Given the description of an element on the screen output the (x, y) to click on. 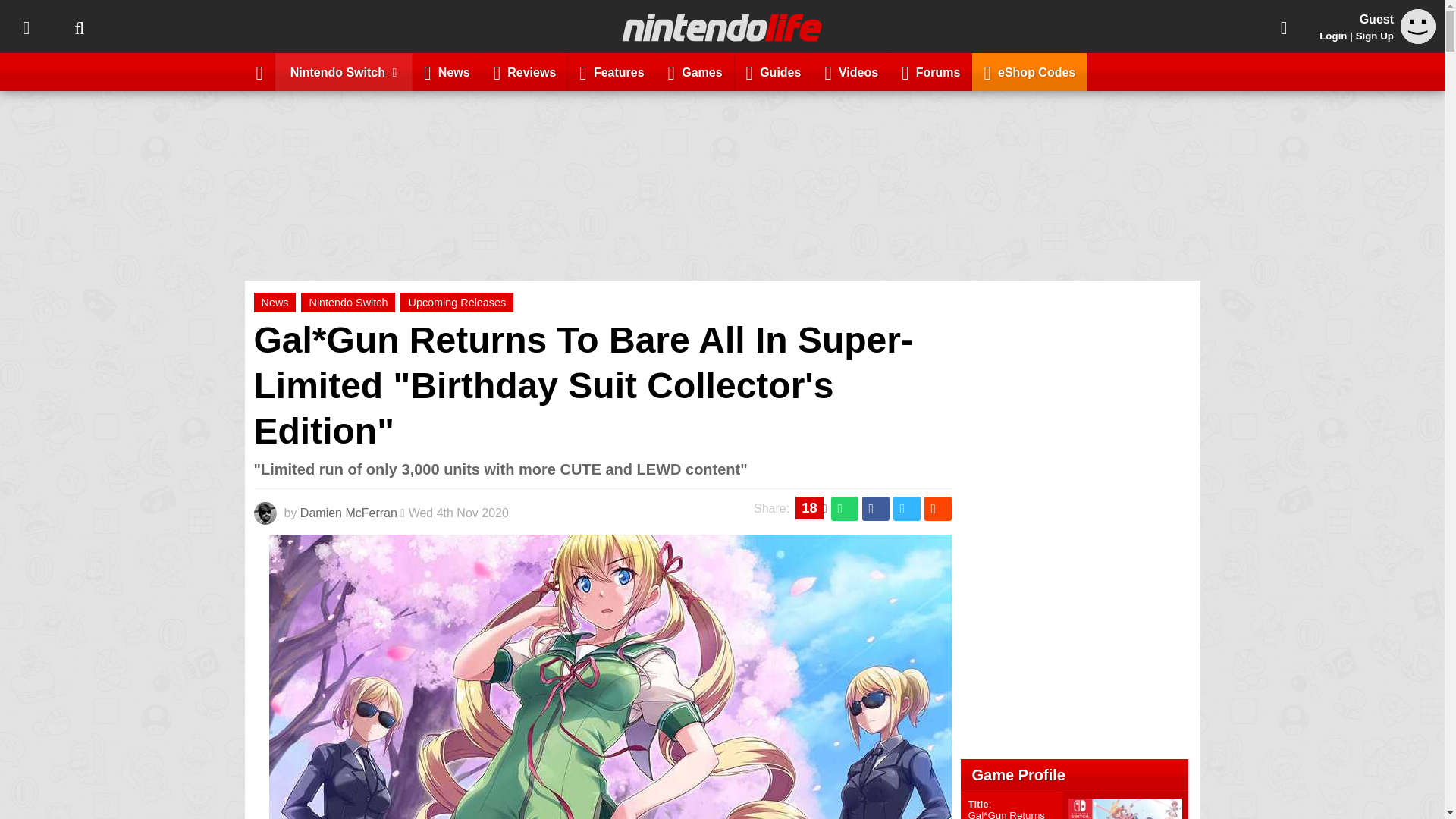
Nintendo Life (721, 27)
Damien McFerran (348, 512)
Share this on Facebook (874, 508)
Nintendo Life (721, 27)
Share this on Reddit (936, 508)
Upcoming Releases (456, 302)
Share This Page (1283, 26)
Topics (26, 26)
Guest (1417, 39)
Nintendo Switch (344, 71)
eShop Codes (1029, 71)
Forums (930, 71)
Reviews (525, 71)
Share this on WhatsApp (845, 508)
News (274, 302)
